Given the description of an element on the screen output the (x, y) to click on. 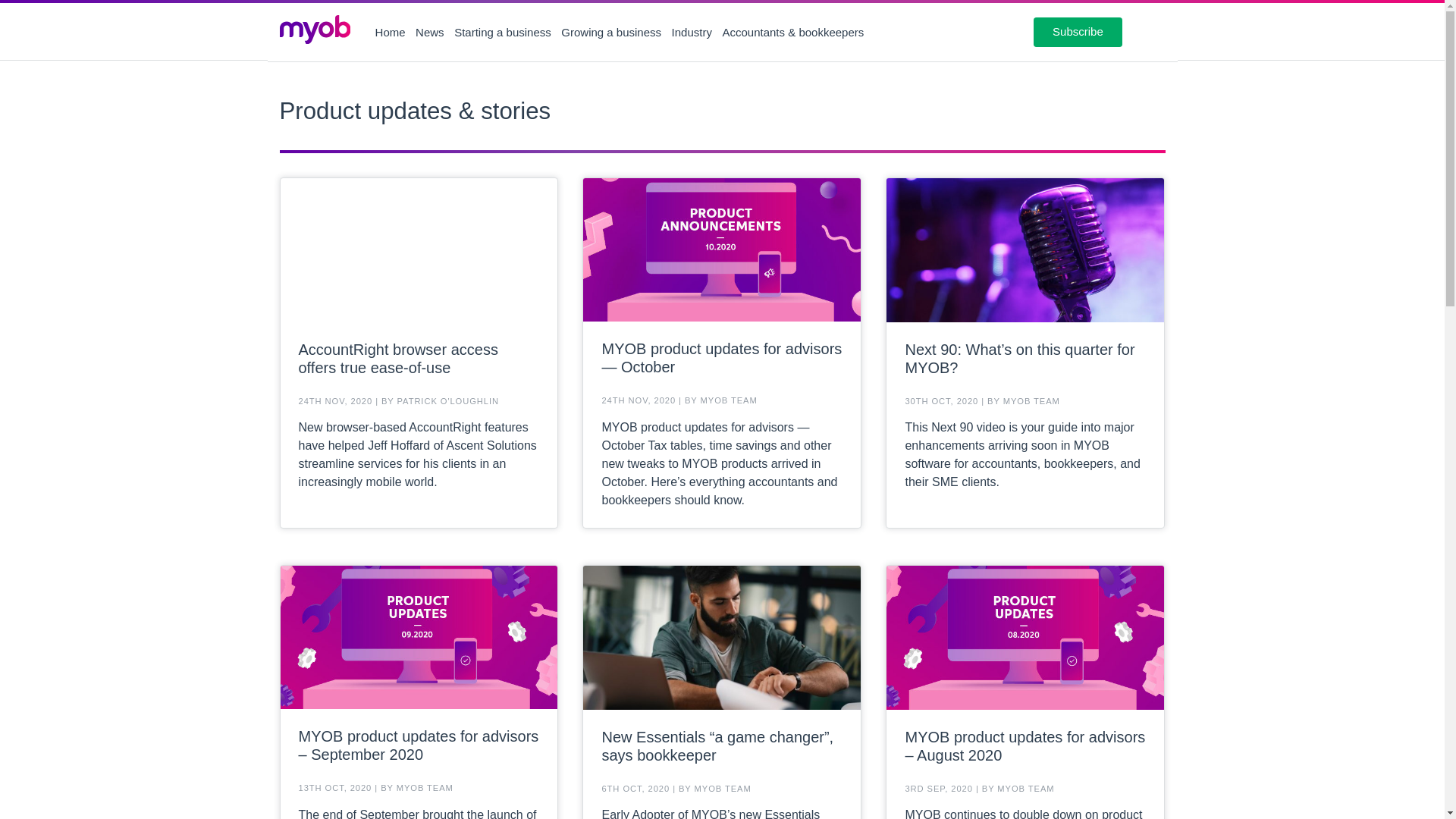
MYOB Home (314, 32)
Industry (691, 31)
Subscribe (1077, 31)
Home (390, 31)
MYOB Home (314, 32)
News (429, 31)
MYOB Home (314, 29)
Starting a business (502, 31)
Growing a business (610, 31)
